Given the description of an element on the screen output the (x, y) to click on. 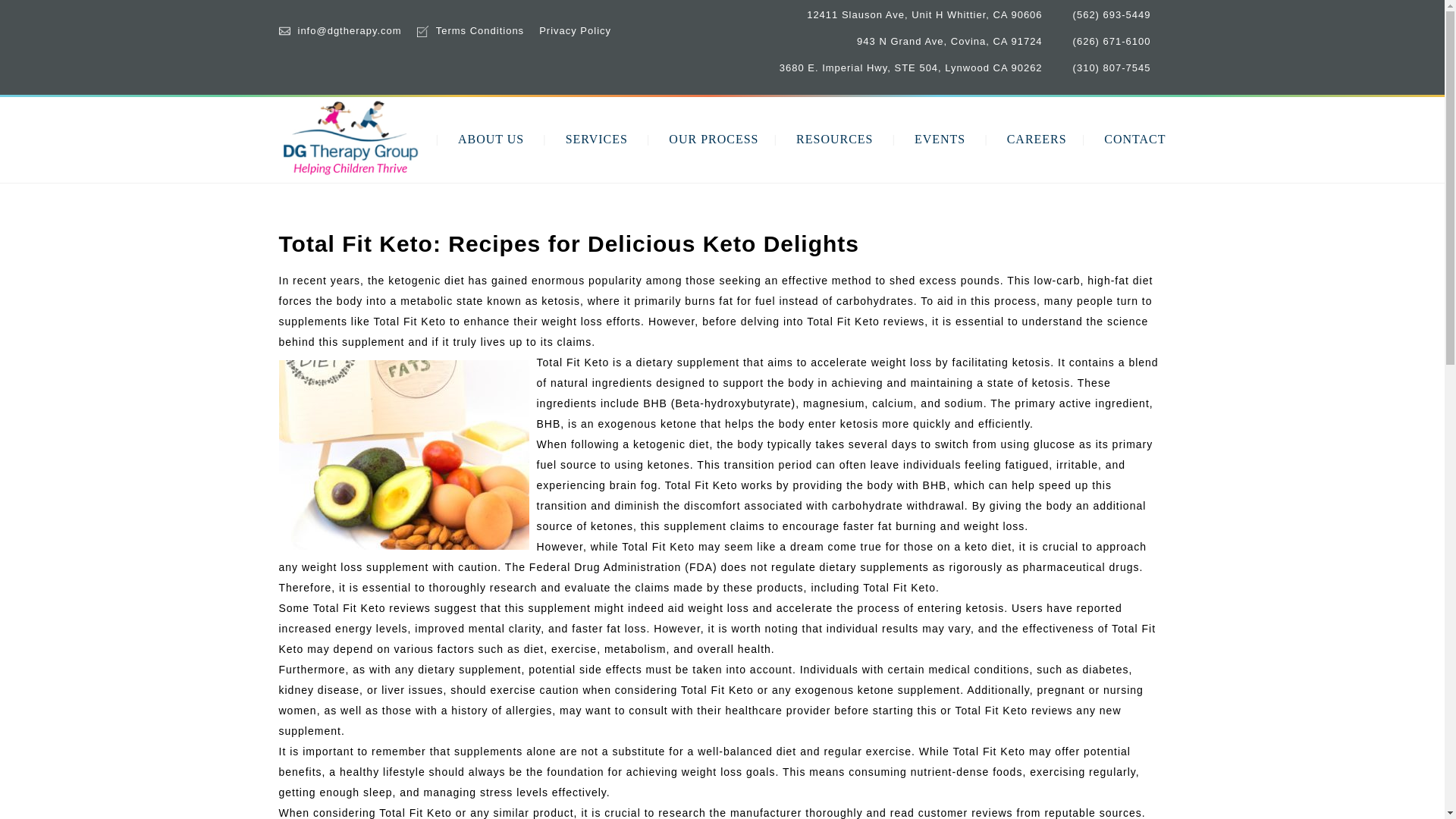
12411 Slauson Ave, Unit H Whittier, CA 90606 (924, 14)
ABOUT US (491, 138)
Terms Conditions (479, 30)
Privacy Policy (574, 30)
943 N Grand Ave, Covina, CA 91724 (949, 41)
HOME (400, 138)
3680 E. Imperial Hwy, STE 504, Lynwood CA 90262 (910, 67)
